Given the description of an element on the screen output the (x, y) to click on. 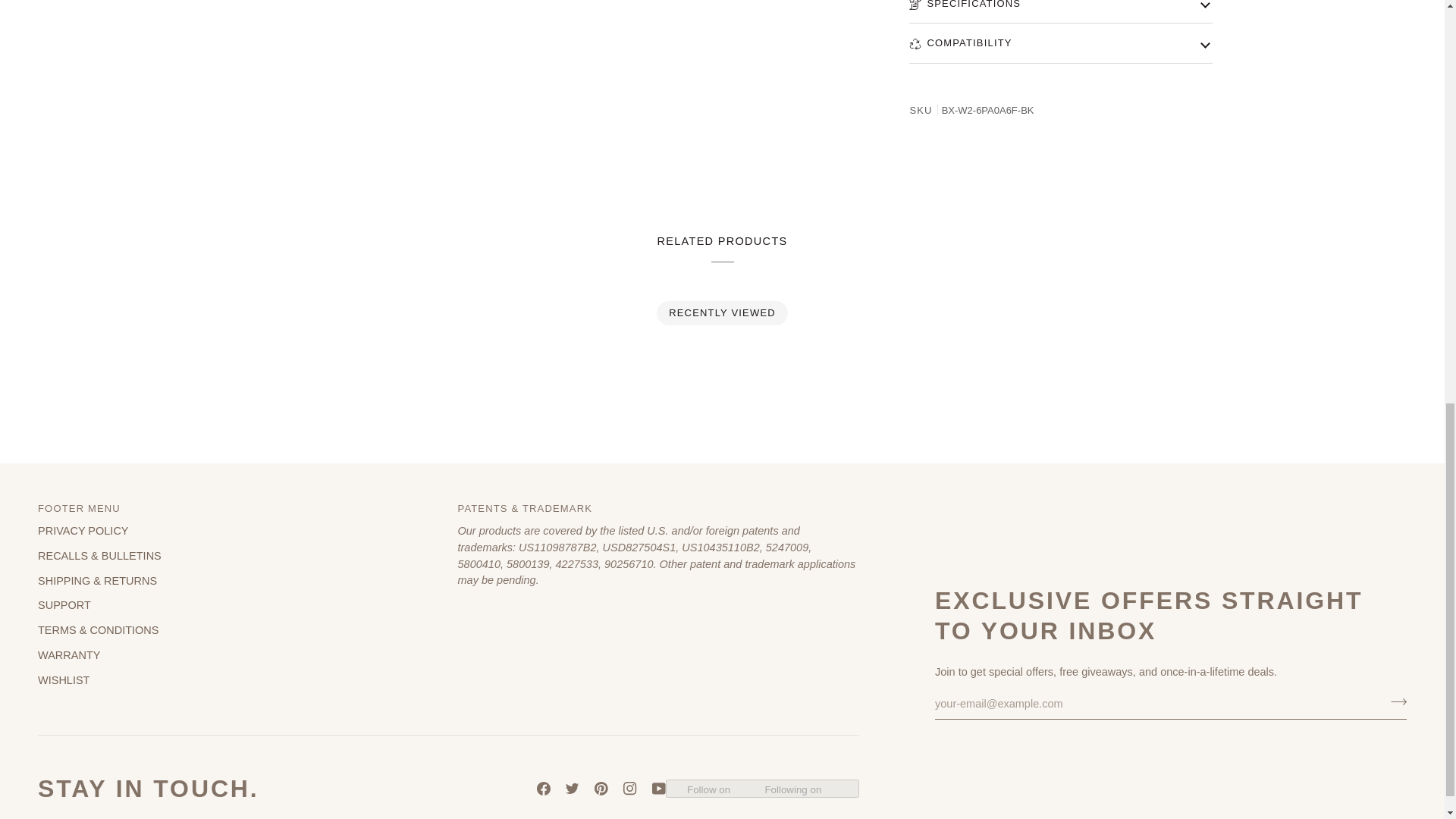
Instagram (630, 788)
RECENTLY VIEWED (722, 313)
Facebook (543, 788)
YouTube (658, 788)
Pinterest (601, 788)
Twitter (572, 788)
